Given the description of an element on the screen output the (x, y) to click on. 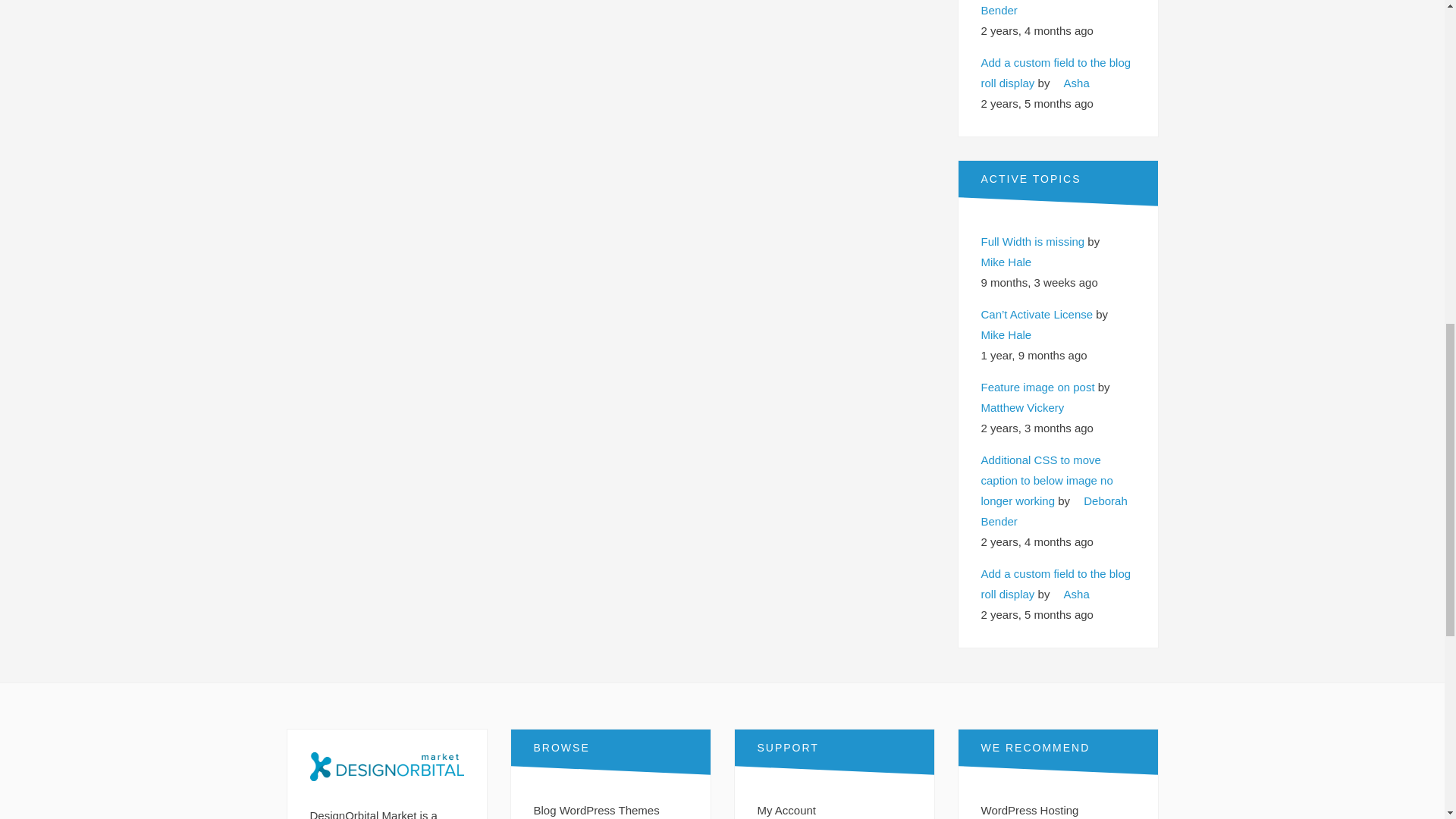
View Asha's profile (1070, 594)
View Mike Hale's profile (1047, 251)
View Deborah Bender's profile (1053, 8)
View Mike Hale's profile (1051, 324)
View Deborah Bender's profile (1053, 510)
Deborah Bender (1053, 8)
View Matthew Vickery's profile (1052, 397)
View Asha's profile (1070, 82)
